Given the description of an element on the screen output the (x, y) to click on. 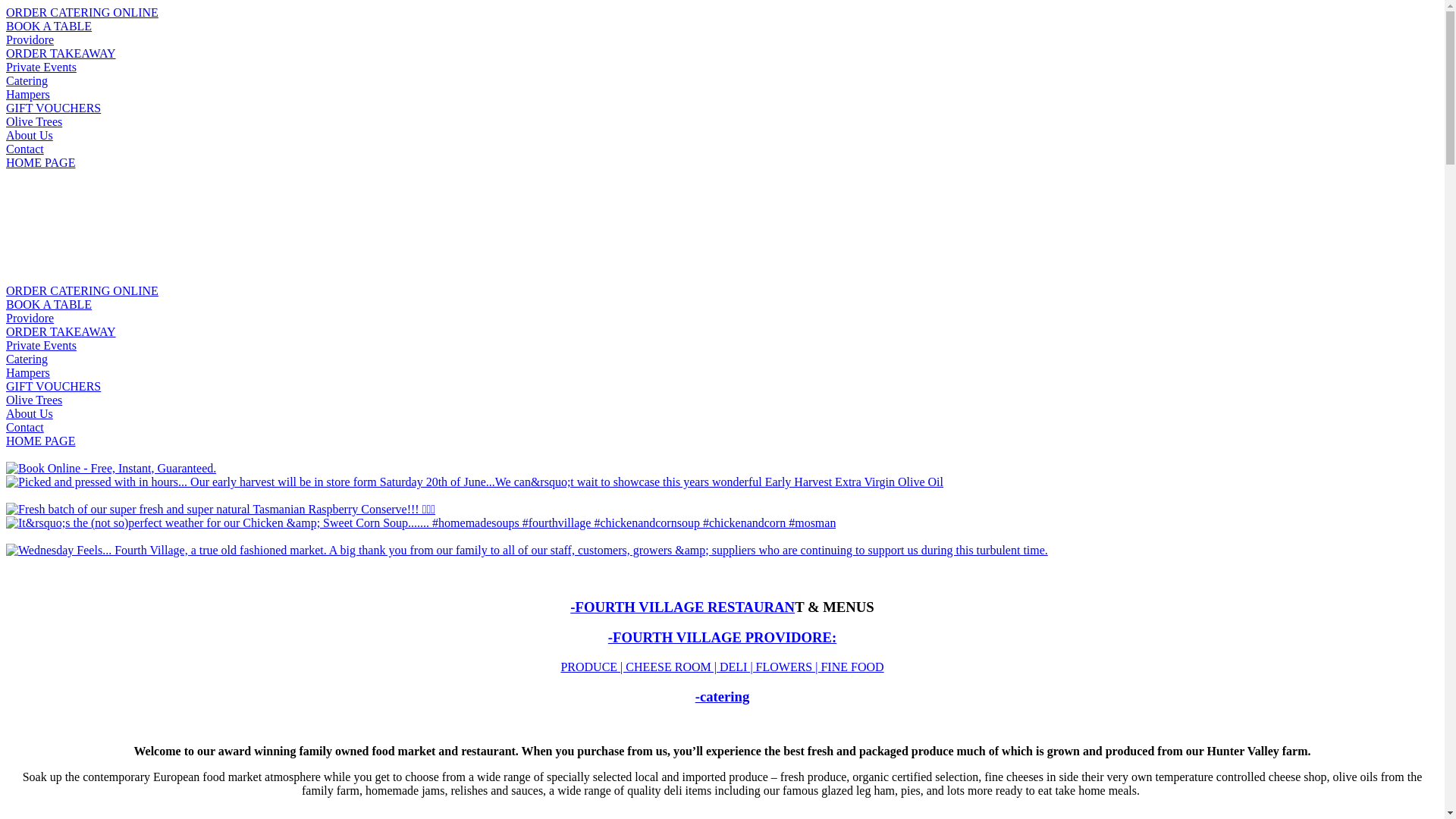
Private Events Element type: text (41, 66)
ORDER CATERING ONLINE Element type: text (82, 12)
Olive Trees Element type: text (34, 399)
Catering Element type: text (26, 80)
GIFT VOUCHERS Element type: text (53, 385)
Providore Element type: text (29, 39)
Providore Element type: text (29, 317)
BOOK A TABLE Element type: text (48, 25)
PRODUCE | CHEESE ROOM | DELI | FLOWERS | FINE FOOD Element type: text (721, 666)
Private Events Element type: text (41, 344)
About Us Element type: text (29, 134)
ORDER CATERING ONLINE Element type: text (82, 290)
Contact Element type: text (24, 426)
-catering Element type: text (722, 696)
ORDER TAKEAWAY Element type: text (61, 331)
BOOK A TABLE Element type: text (48, 304)
-FOURTH VILLAGE PROVIDORE: Element type: text (722, 637)
ORDER TAKEAWAY Element type: text (61, 53)
HOME PAGE Element type: text (40, 162)
About Us Element type: text (29, 413)
Catering Element type: text (26, 358)
HOME PAGE Element type: text (40, 440)
-FOURTH VILLAGE RESTAURAN Element type: text (682, 607)
Hampers Element type: text (28, 93)
Hampers Element type: text (28, 372)
Contact Element type: text (24, 148)
Olive Trees Element type: text (34, 121)
GIFT VOUCHERS Element type: text (53, 107)
